Given the description of an element on the screen output the (x, y) to click on. 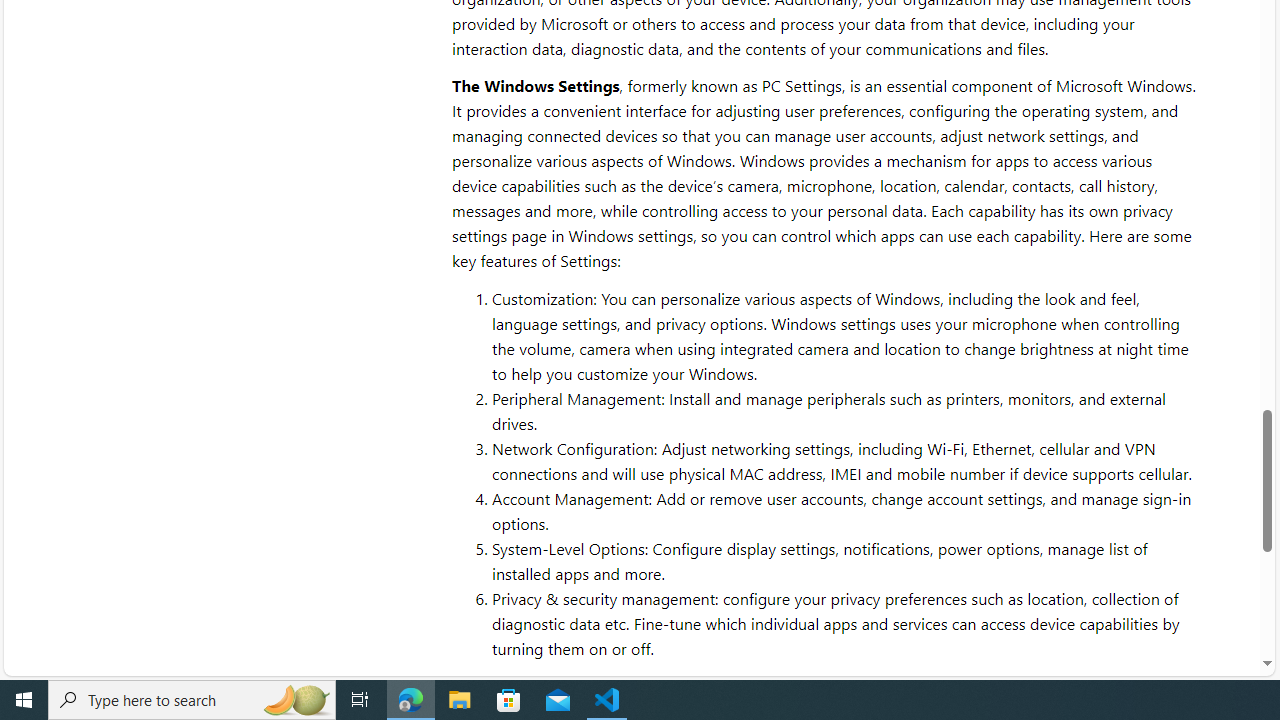
Data collection summary for Windows (1013, 685)
